Given the description of an element on the screen output the (x, y) to click on. 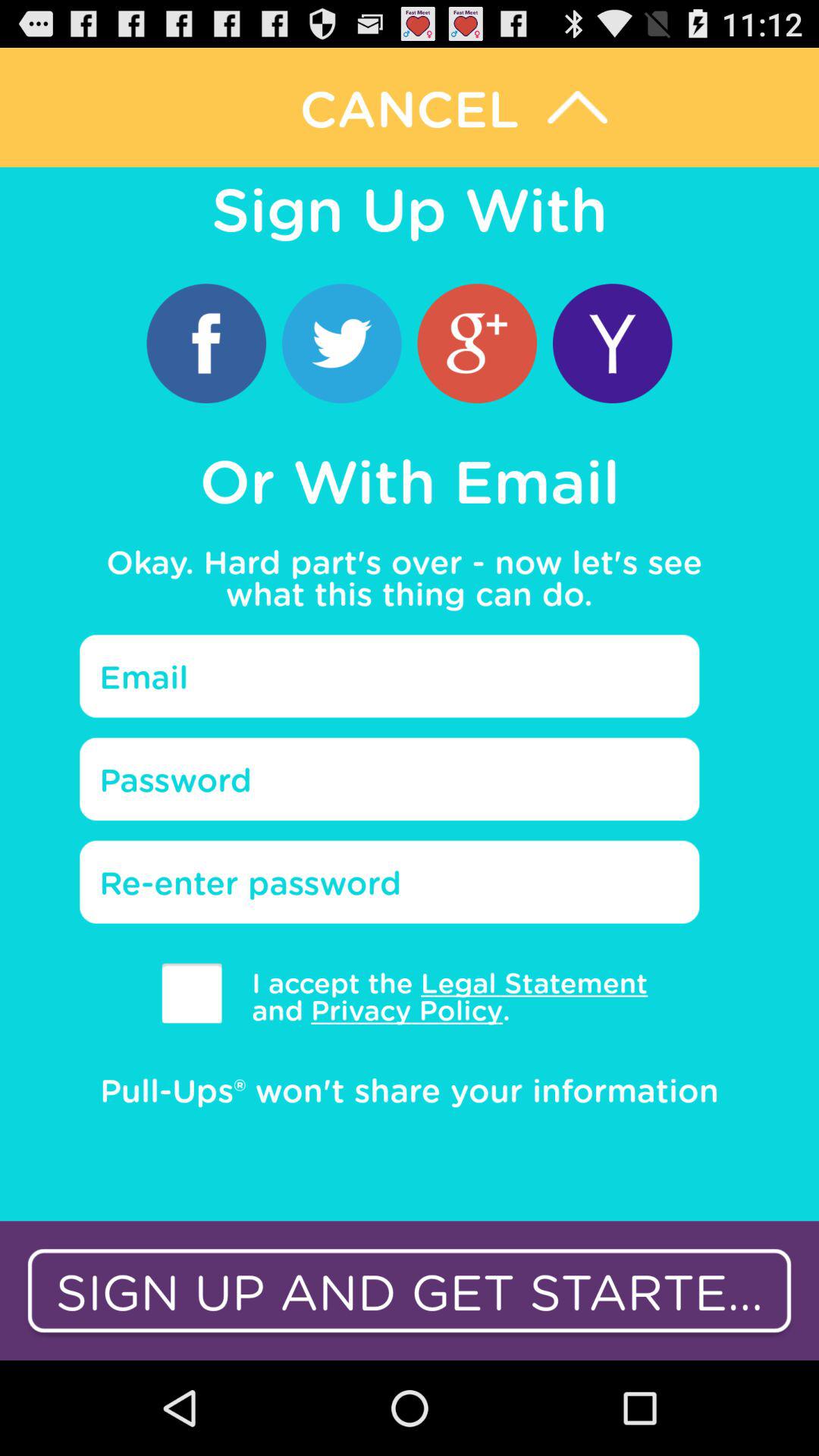
launch app above or with email item (476, 343)
